Given the description of an element on the screen output the (x, y) to click on. 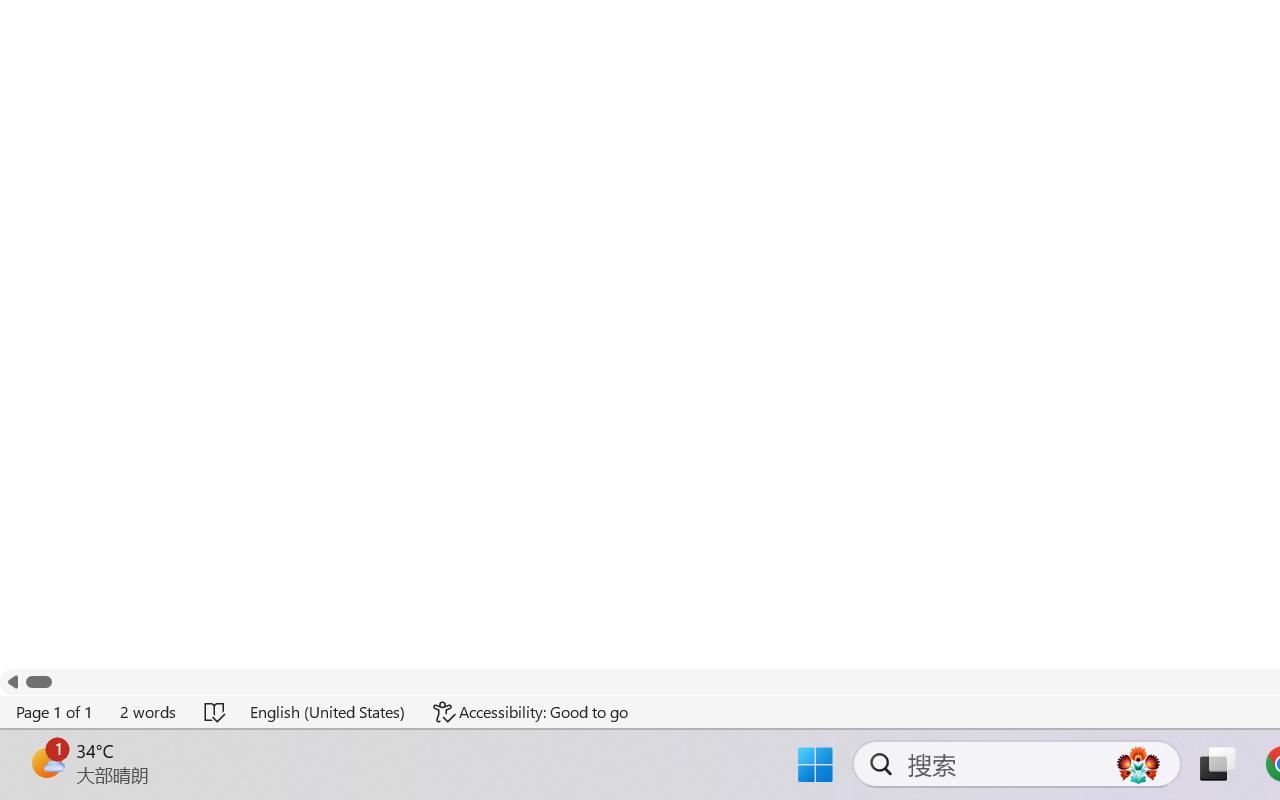
Language English (United States) (328, 712)
Spelling and Grammar Check No Errors (216, 712)
Column left (12, 681)
Word Count 2 words (149, 712)
AutomationID: BadgeAnchorLargeTicker (46, 762)
Accessibility Checker Accessibility: Good to go (531, 712)
Page Number Page 1 of 1 (55, 712)
AutomationID: DynamicSearchBoxGleamImage (1138, 764)
